Given the description of an element on the screen output the (x, y) to click on. 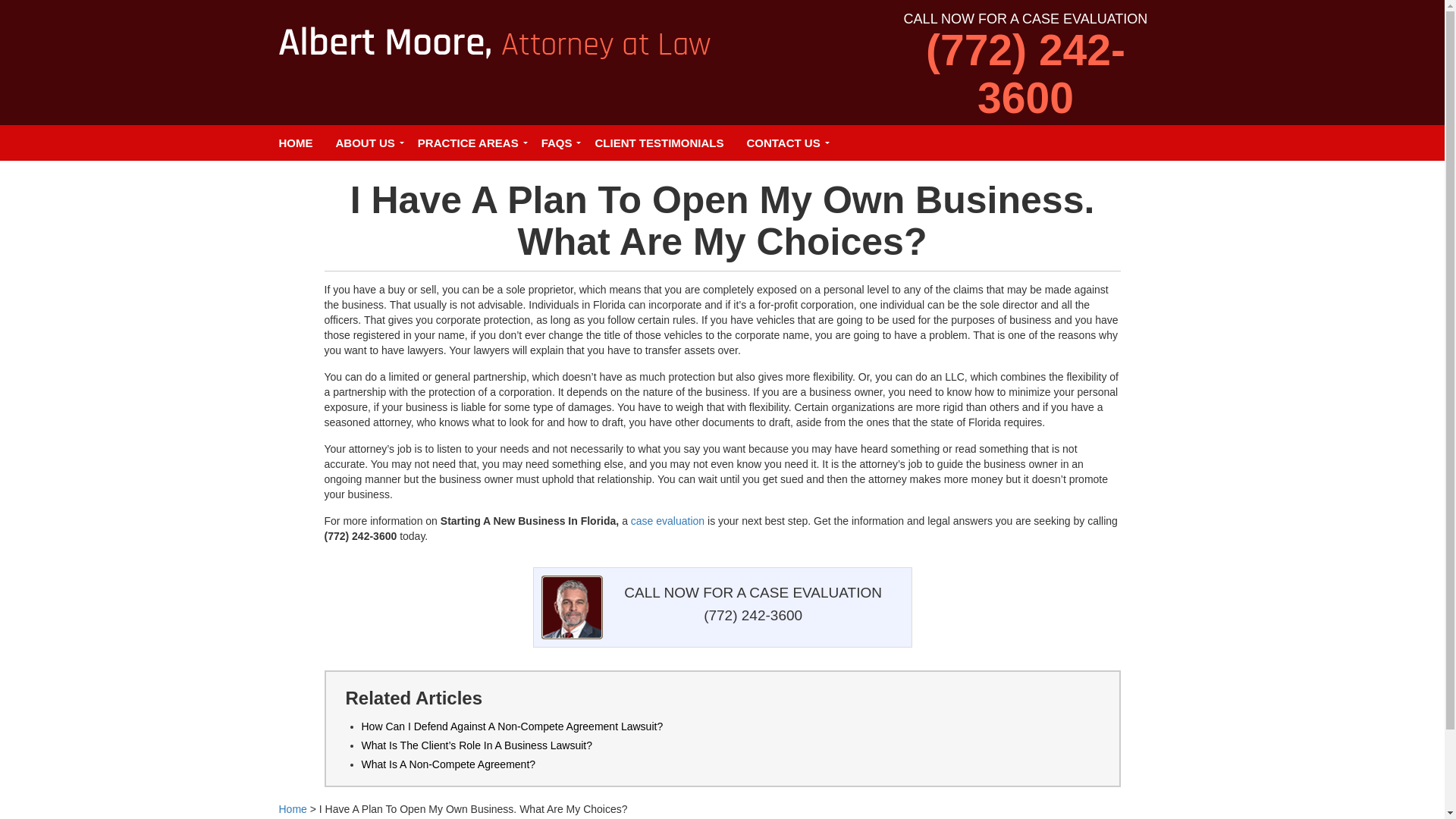
CLIENT TESTIMONIALS (659, 142)
PRACTICE AREAS (467, 142)
case evaluation (667, 521)
ABOUT US (365, 142)
How Can I Defend Against A Non-Compete Agreement Lawsuit? (511, 726)
Go to Albert Moore, Attorney at Law. (293, 808)
CONTACT US (783, 142)
HOME (294, 142)
What Is A Non-Compete Agreement? (448, 764)
Home (293, 808)
FAQS (556, 142)
